Given the description of an element on the screen output the (x, y) to click on. 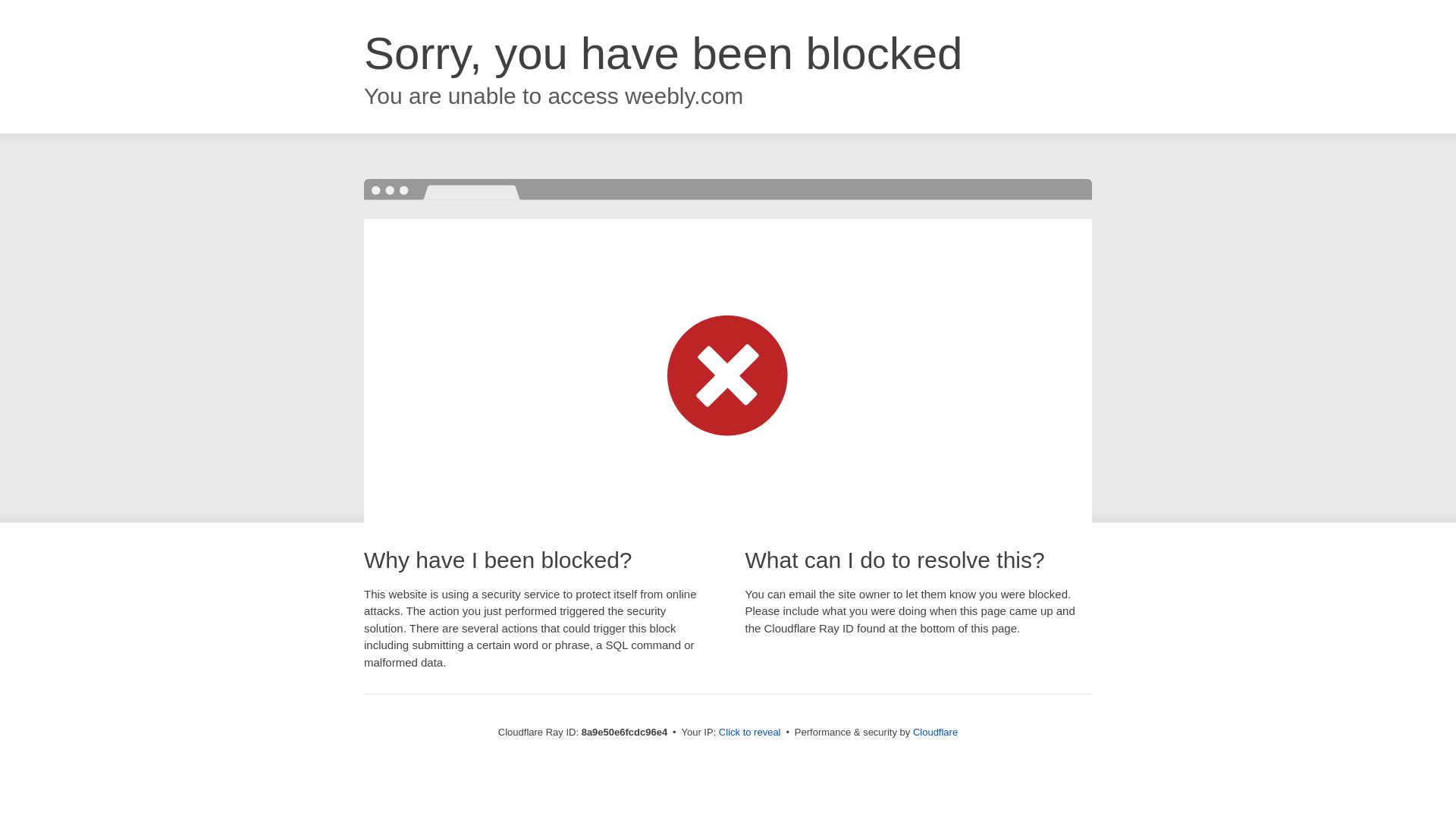
Cloudflare (935, 731)
Click to reveal (749, 732)
